Given the description of an element on the screen output the (x, y) to click on. 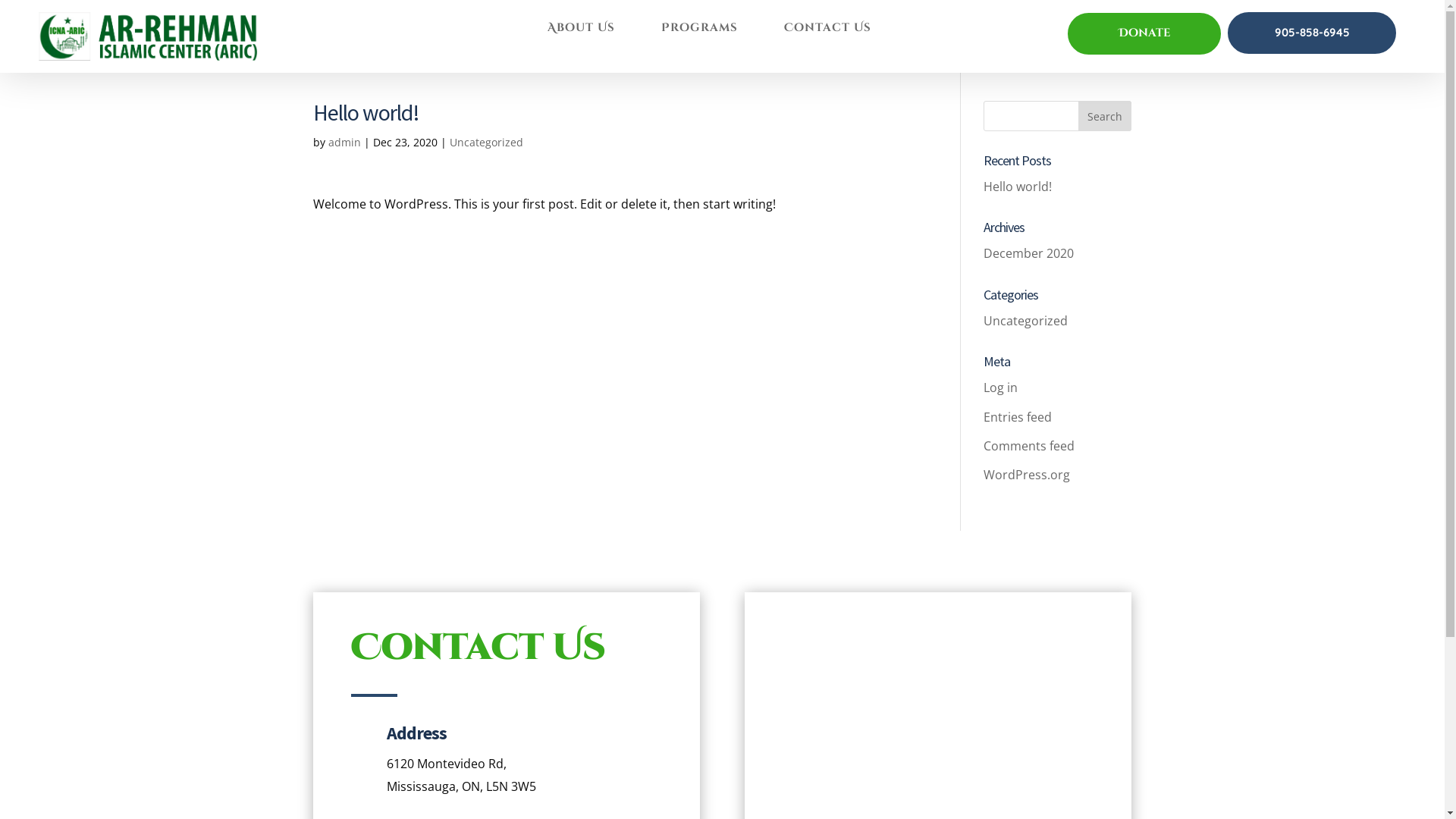
Log in Element type: text (1000, 387)
aric-logo Element type: hover (152, 36)
Contact Us Element type: text (827, 30)
Entries feed Element type: text (1017, 416)
Hello world! Element type: text (1017, 186)
Comments feed Element type: text (1028, 445)
Search Element type: text (1104, 115)
Uncategorized Element type: text (485, 141)
WordPress.org Element type: text (1026, 474)
December 2020 Element type: text (1028, 252)
Programs Element type: text (699, 30)
About Us Element type: text (581, 30)
admin Element type: text (343, 141)
Uncategorized Element type: text (1025, 320)
